Given the description of an element on the screen output the (x, y) to click on. 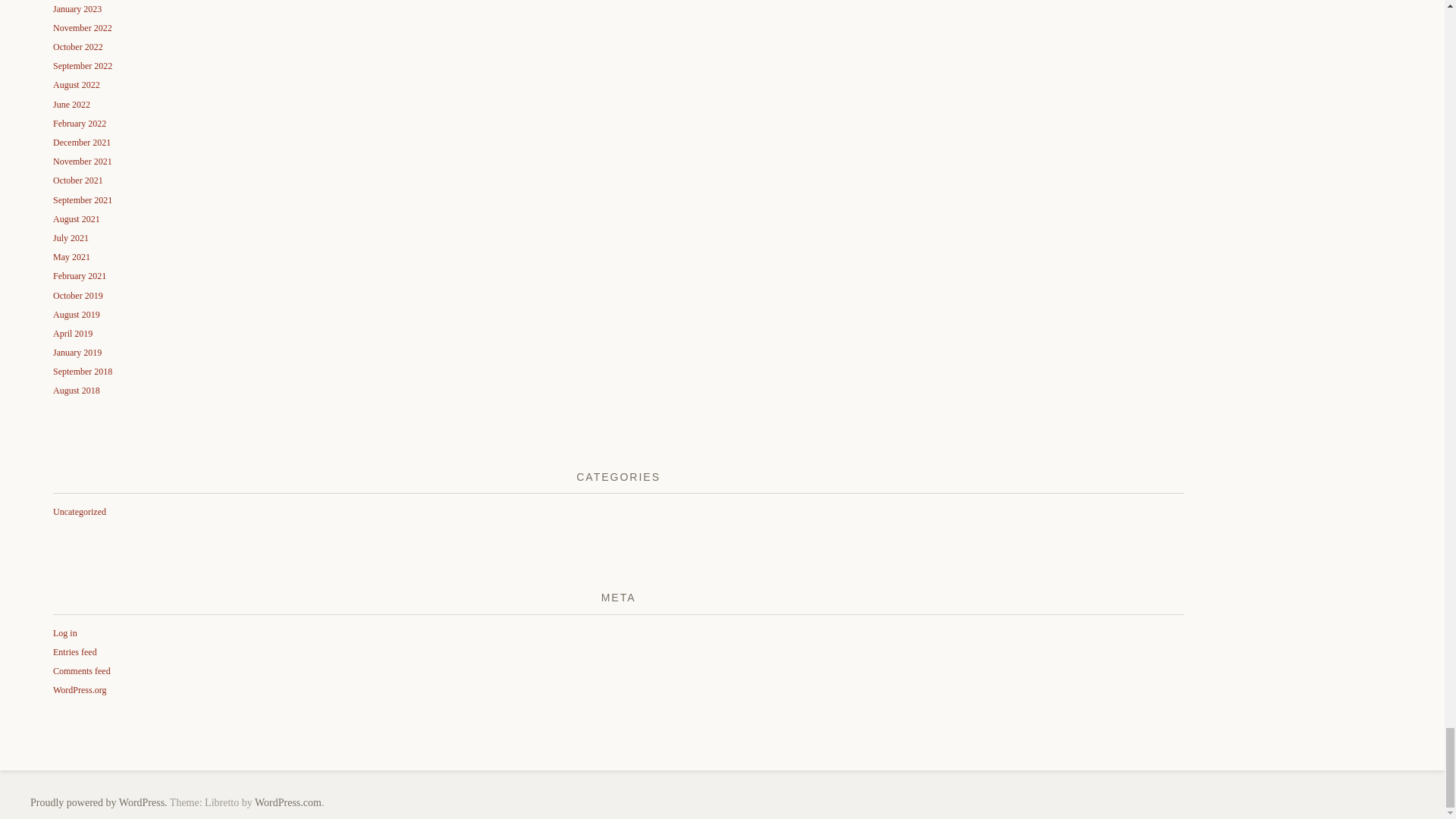
July 2021 (70, 237)
December 2021 (81, 142)
May 2021 (71, 256)
January 2023 (76, 9)
February 2021 (79, 276)
August 2021 (76, 218)
November 2021 (82, 161)
June 2022 (71, 104)
September 2021 (82, 199)
September 2022 (82, 65)
